Given the description of an element on the screen output the (x, y) to click on. 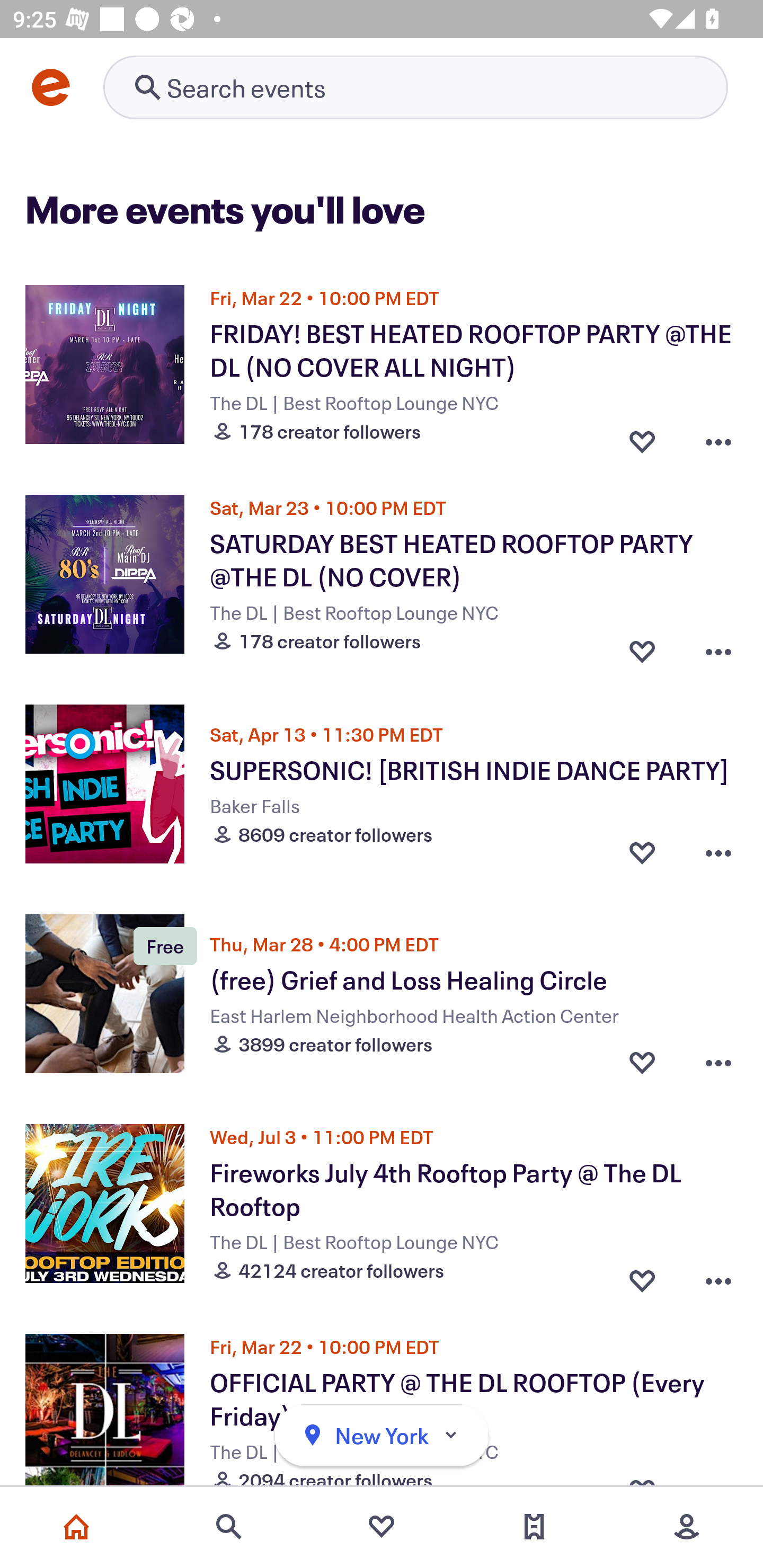
Retry's image Search events (415, 86)
Favorite button (642, 436)
Overflow menu button (718, 436)
Favorite button (642, 646)
Overflow menu button (718, 646)
Favorite button (642, 852)
Overflow menu button (718, 852)
Favorite button (642, 1062)
Overflow menu button (718, 1062)
Favorite button (642, 1275)
Overflow menu button (718, 1275)
New York (381, 1435)
Home (76, 1526)
Search events (228, 1526)
Favorites (381, 1526)
Tickets (533, 1526)
More (686, 1526)
